Given the description of an element on the screen output the (x, y) to click on. 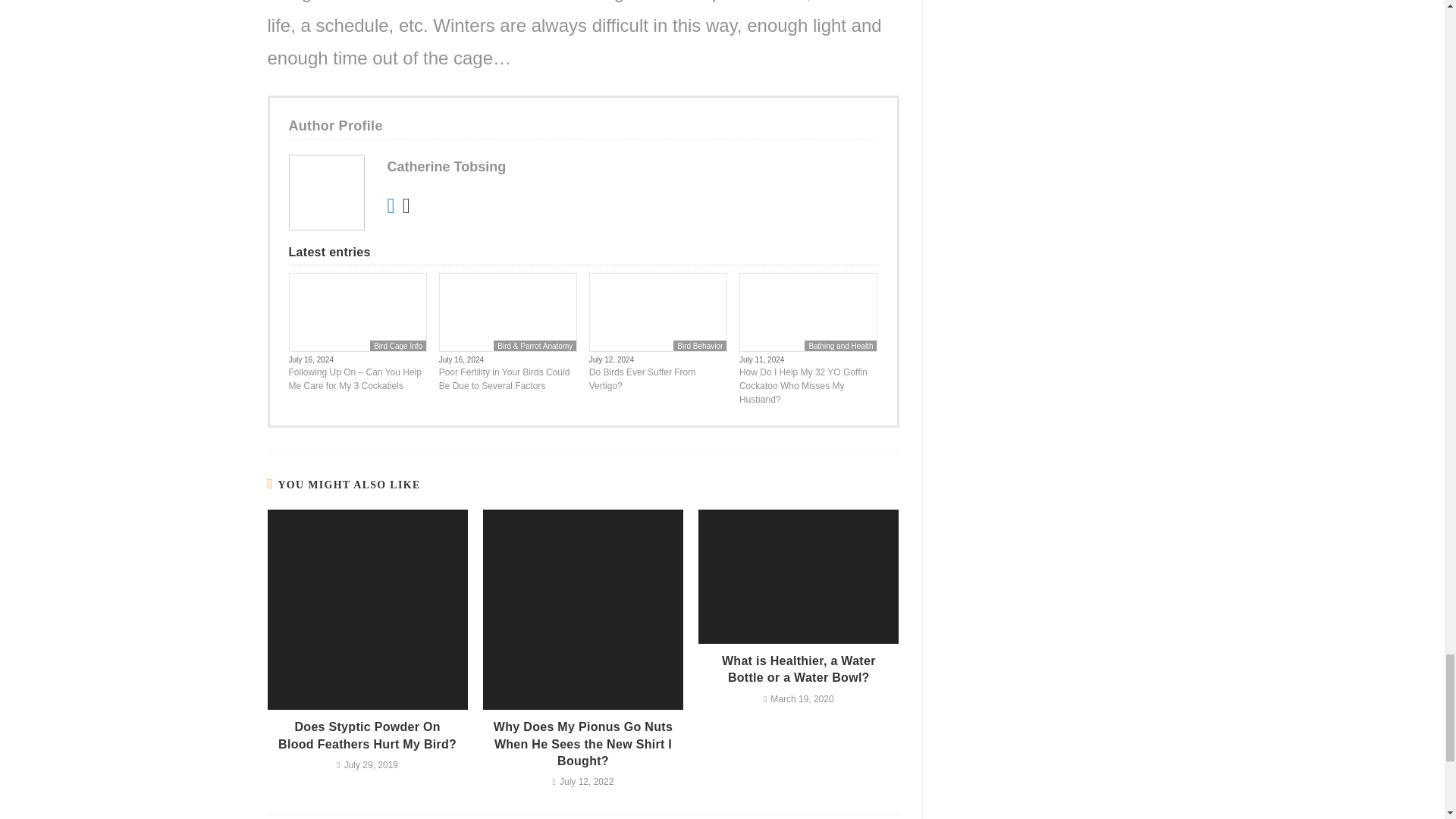
Does Styptic Powder On Blood Feathers Hurt My Bird? (367, 735)
Poor Fertility in Your Birds Could Be Due to Several Factors (508, 379)
Bird Cage Info (397, 345)
What is Healthier, a Water Bottle or a Water Bowl? (798, 669)
Bird Behavior (699, 345)
Do Birds Ever Suffer From Vertigo? (658, 379)
